Given the description of an element on the screen output the (x, y) to click on. 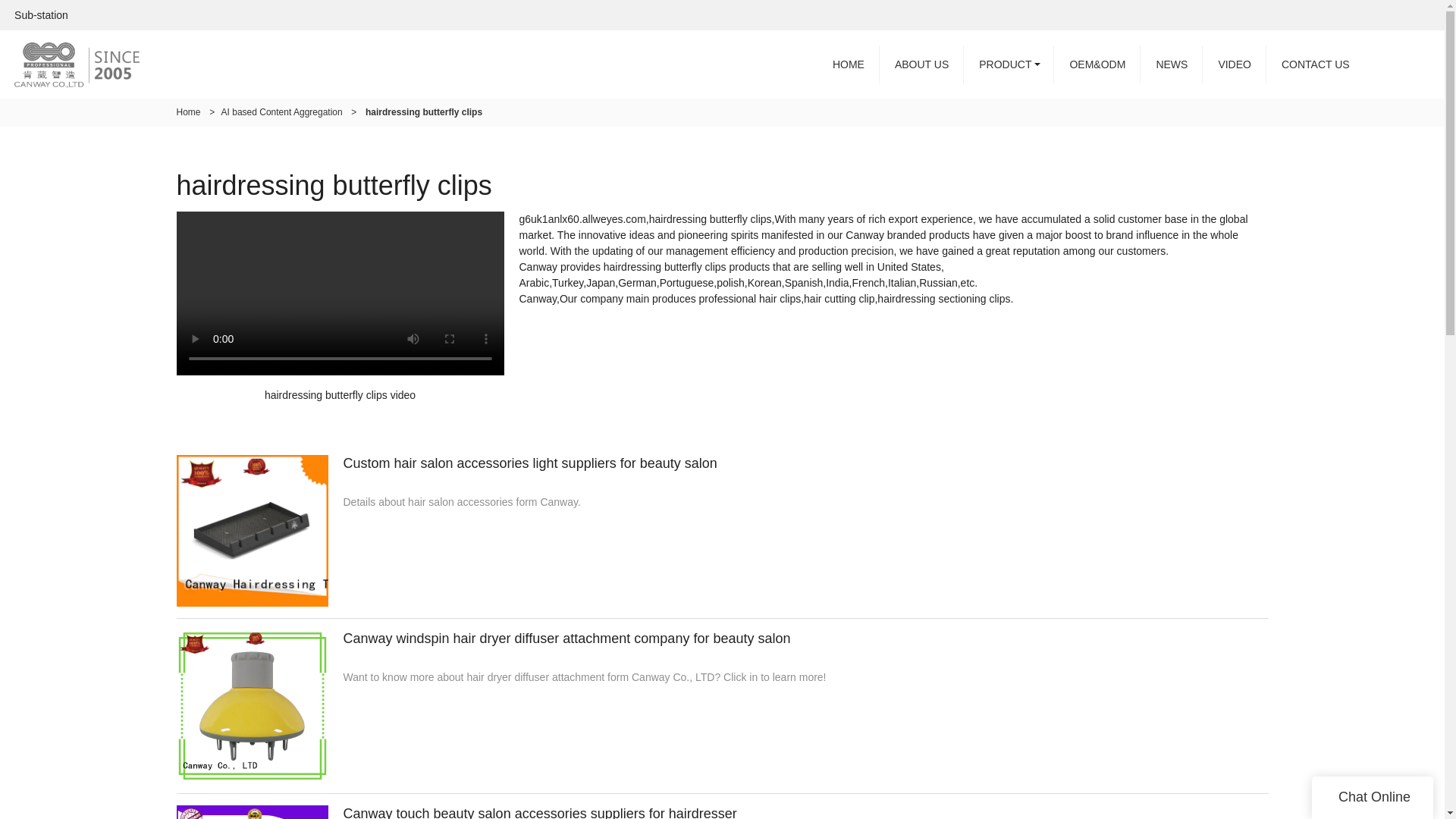
VIDEO (1234, 64)
Home (188, 112)
AI based Content Aggregation (281, 112)
ABOUT US (921, 64)
NEWS (1171, 64)
CONTACT US (1315, 64)
PRODUCT (1008, 64)
